Given the description of an element on the screen output the (x, y) to click on. 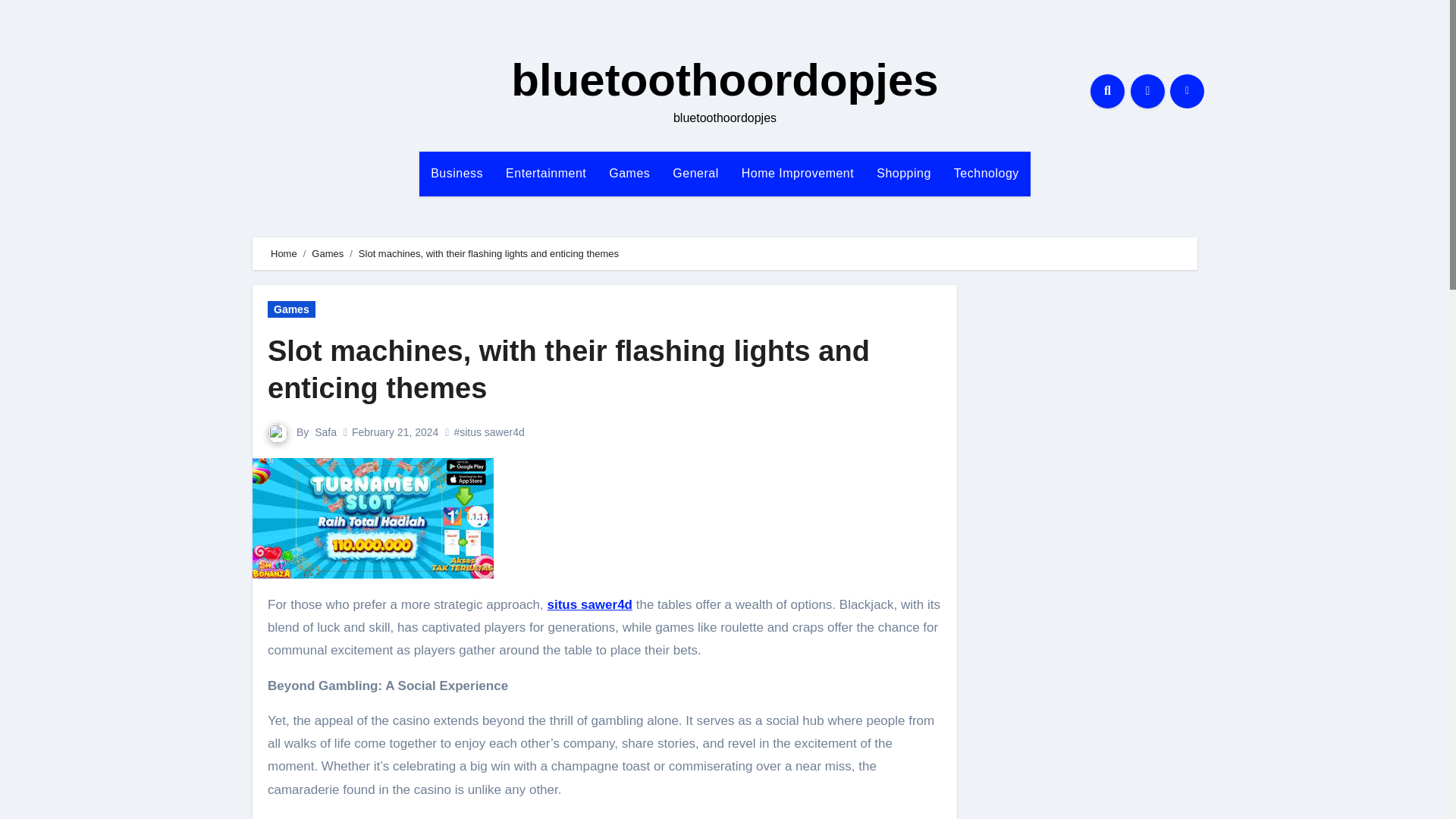
Games (628, 173)
General (695, 173)
Games (291, 309)
Entertainment (545, 173)
Entertainment (545, 173)
Home (283, 253)
Business (457, 173)
Games (628, 173)
Shopping (903, 173)
Games (327, 253)
